Given the description of an element on the screen output the (x, y) to click on. 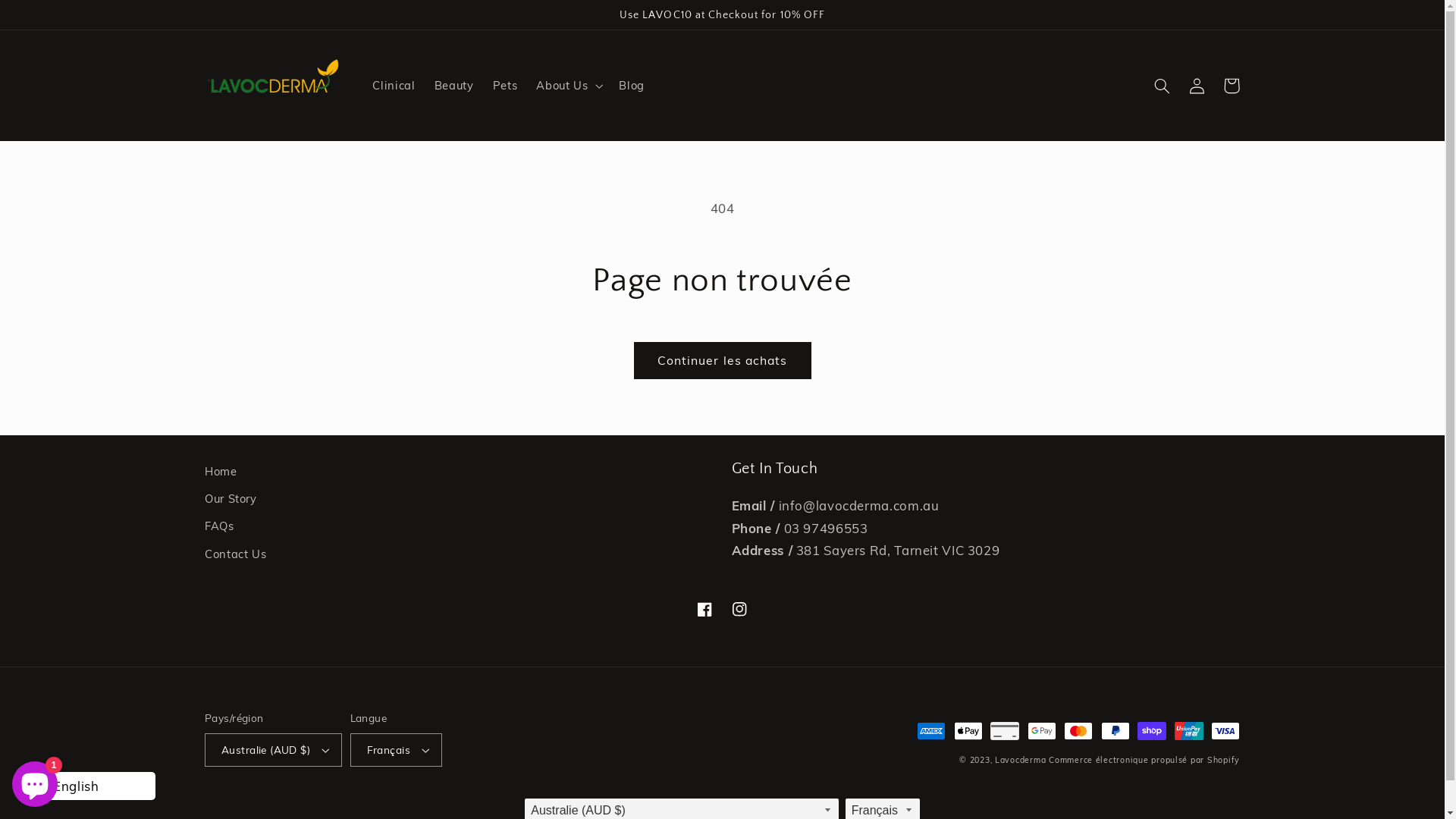
Instagram Element type: text (738, 608)
Australie (AUD $) Element type: text (273, 749)
Home Element type: text (220, 473)
Connexion Element type: text (1196, 85)
Panier Element type: text (1231, 85)
Facebook Element type: text (704, 608)
Clinical Element type: text (393, 85)
Our Story Element type: text (230, 498)
Pets Element type: text (505, 85)
Beauty Element type: text (453, 85)
FAQs Element type: text (219, 525)
Contact Us Element type: text (235, 553)
Blog Element type: text (631, 85)
Chat de la boutique en ligne Shopify Element type: hover (34, 780)
Lavocderma Element type: text (1019, 759)
Continuer les achats Element type: text (722, 360)
